Given the description of an element on the screen output the (x, y) to click on. 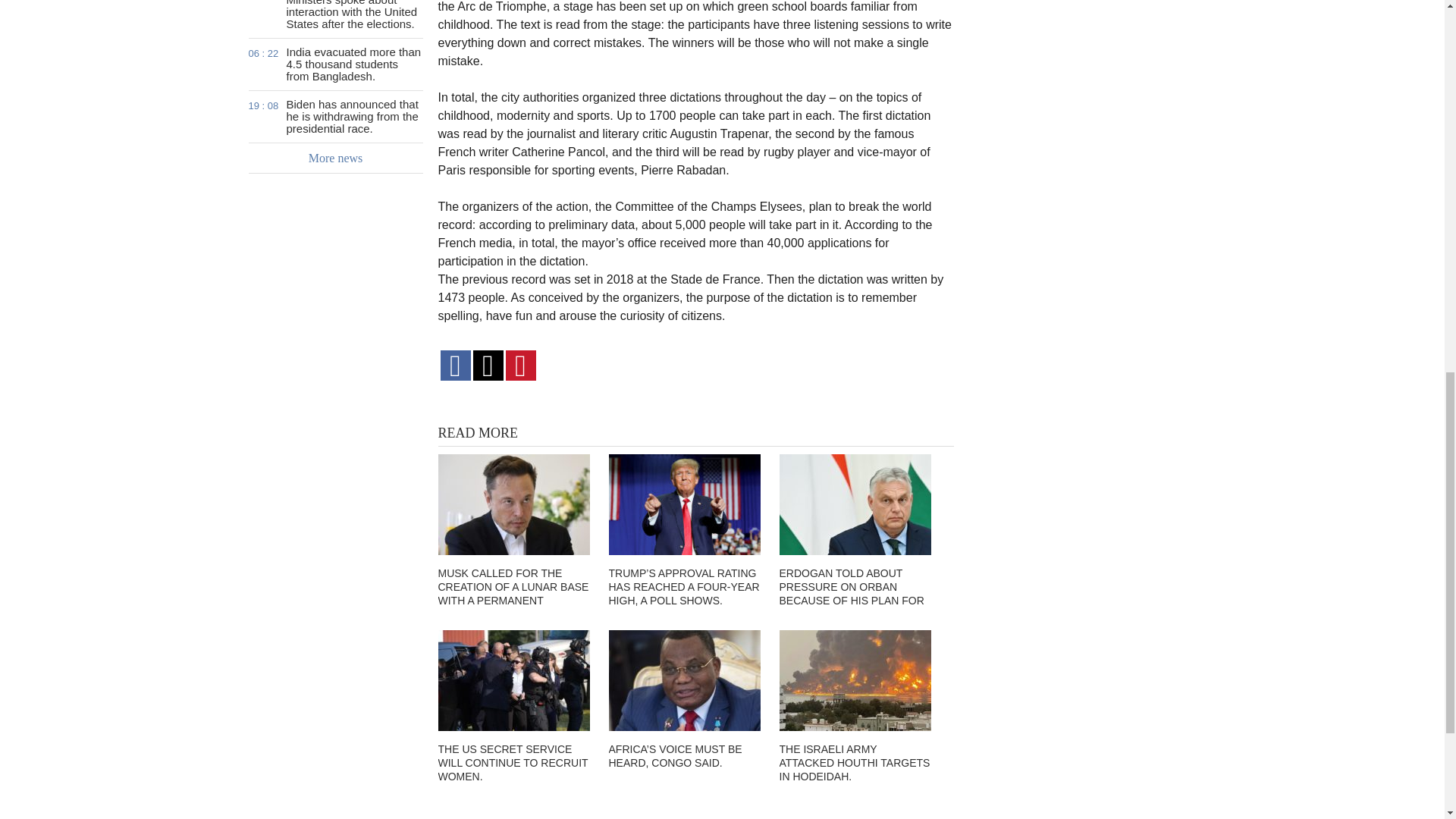
The US Secret Service will continue to recruit women. (513, 680)
More news (335, 158)
The Israeli army attacked Houthi targets in Hodeidah. (854, 680)
